Given the description of an element on the screen output the (x, y) to click on. 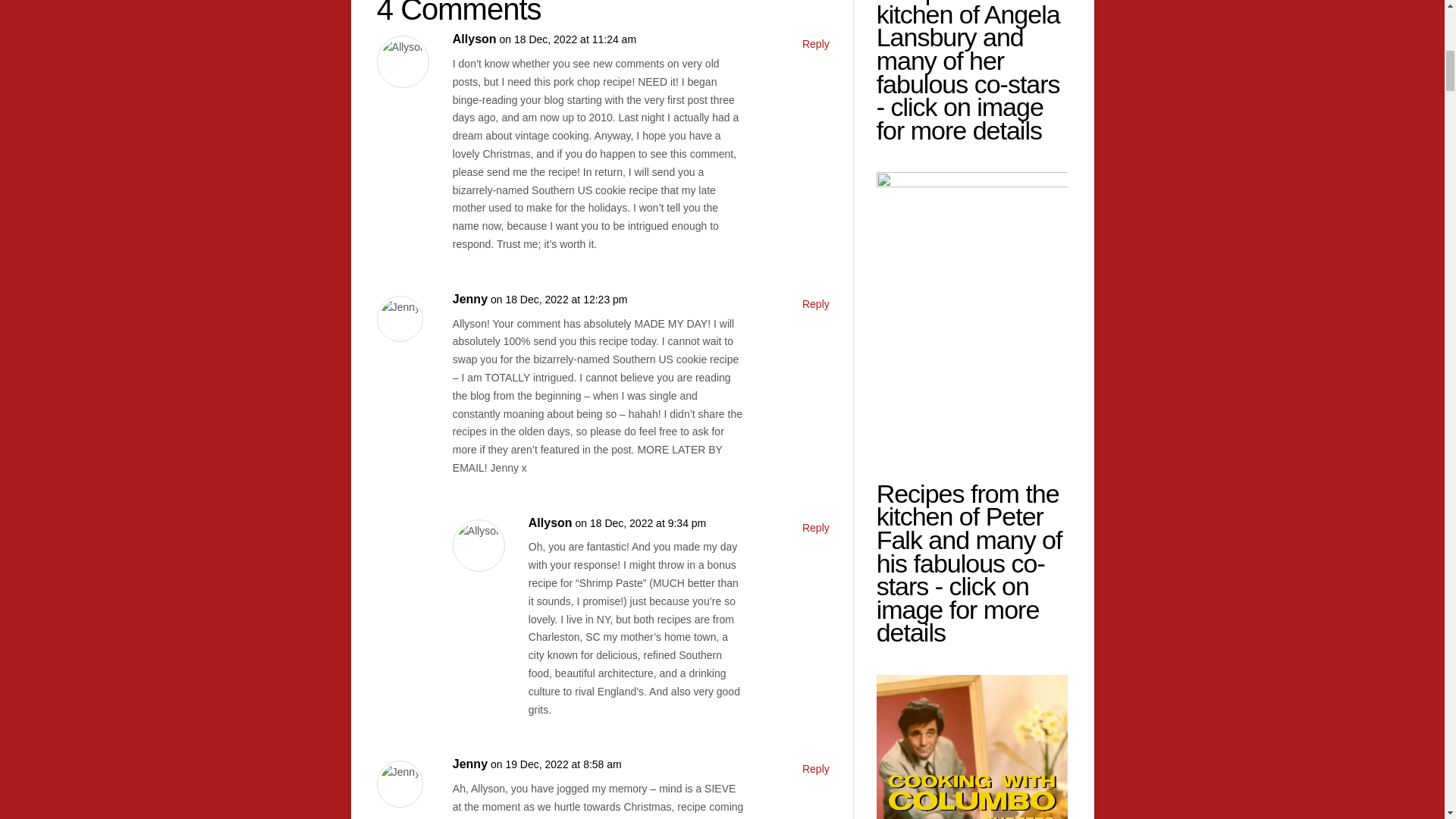
Jenny (469, 299)
Reply (815, 304)
Jenny (469, 764)
Reply (815, 45)
Reply (815, 528)
Reply (815, 769)
